Given the description of an element on the screen output the (x, y) to click on. 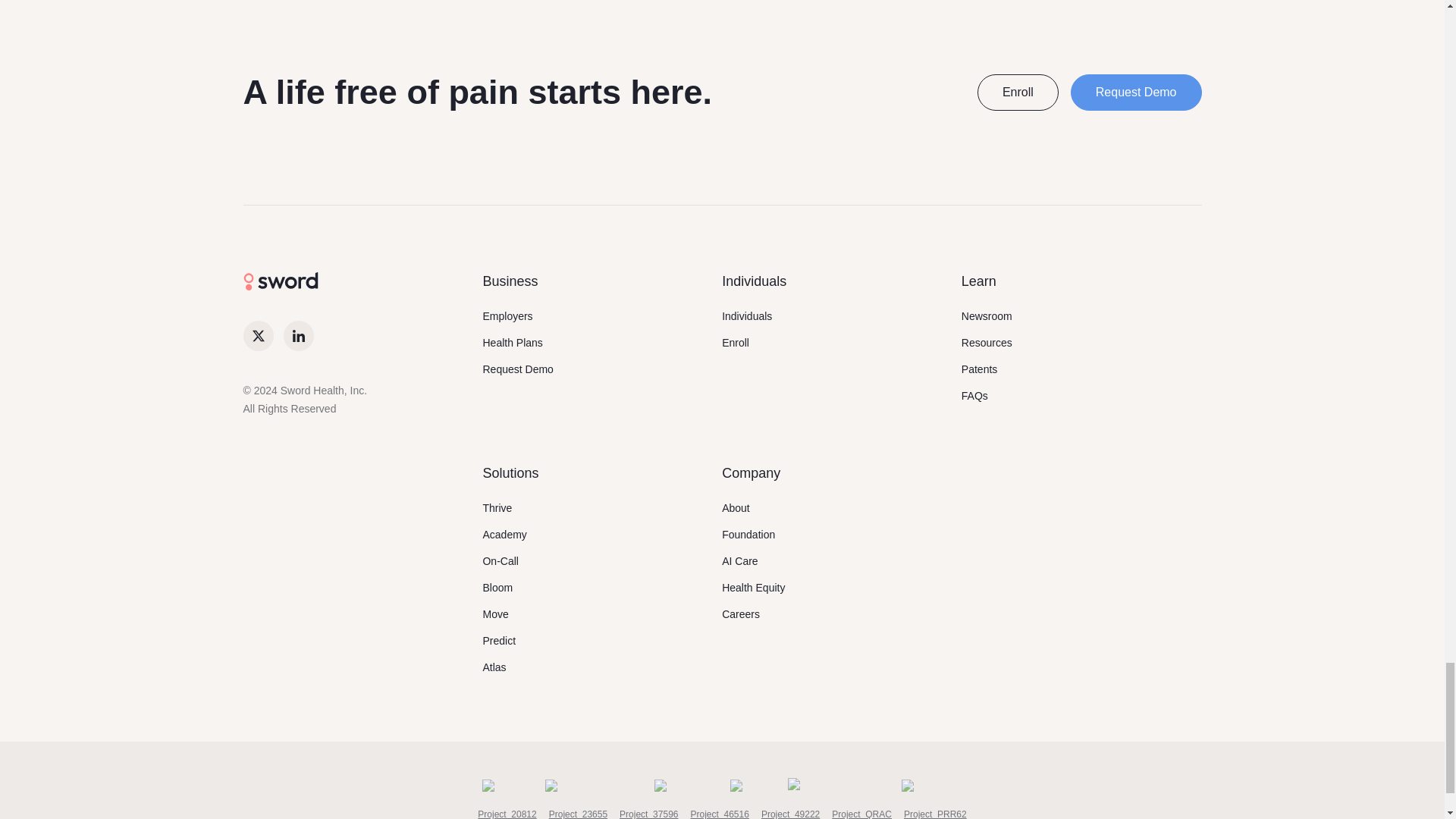
Enroll (1017, 92)
Patents (978, 368)
Resources (985, 342)
Employers (506, 315)
Enroll (735, 342)
Health Plans (511, 342)
Request Demo (1136, 92)
Request Demo (517, 368)
Individuals (746, 315)
Newsroom (985, 315)
